Given the description of an element on the screen output the (x, y) to click on. 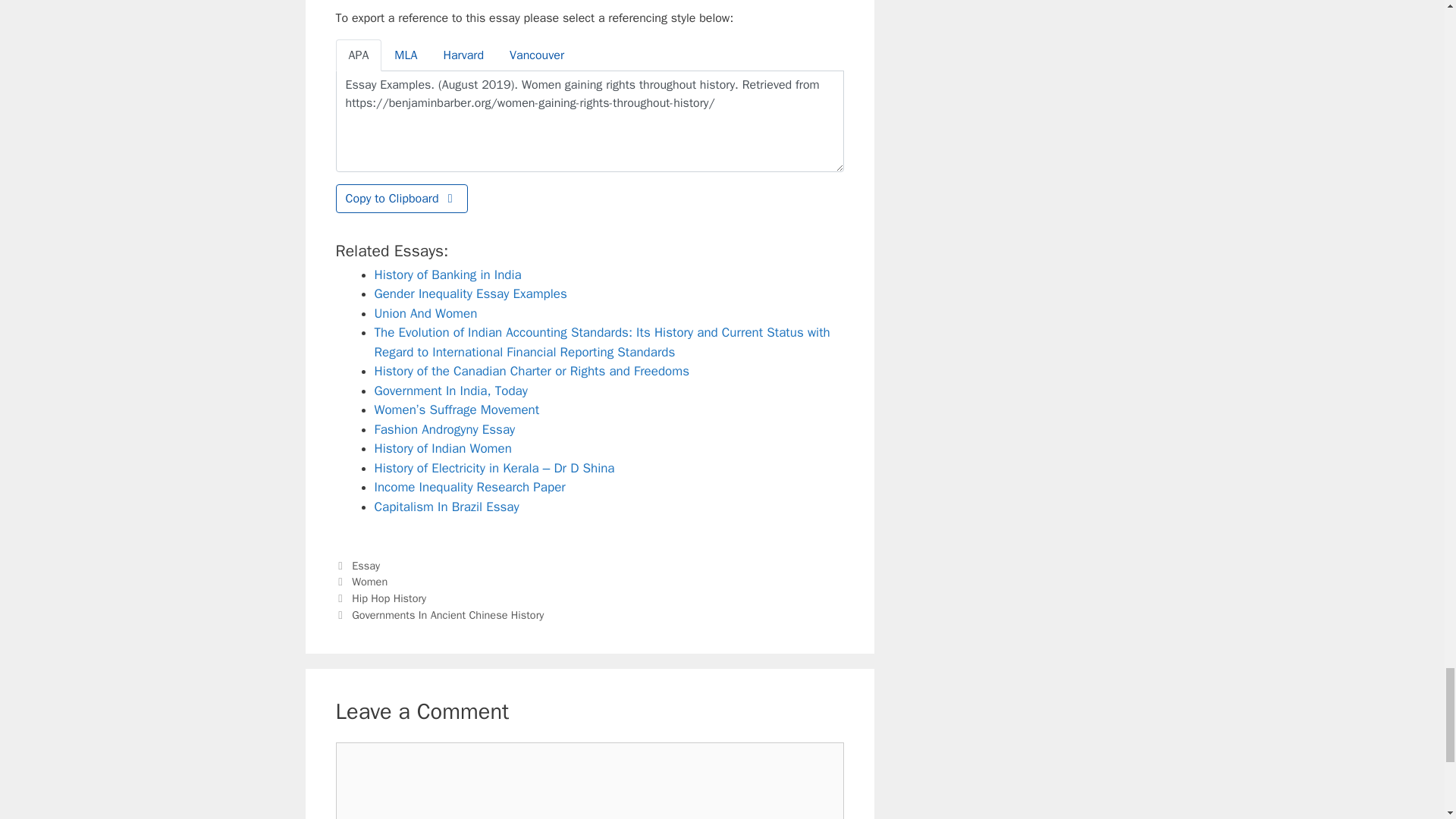
History of Indian Women (443, 448)
Union And Women (425, 313)
Government In India, Today (450, 390)
History of the Canadian Charter or Rights and Freedoms (532, 371)
Union And Women (425, 313)
Government In India, Today (450, 390)
Copy to Clipboard (400, 198)
Capitalism In Brazil Essay (446, 506)
